Given the description of an element on the screen output the (x, y) to click on. 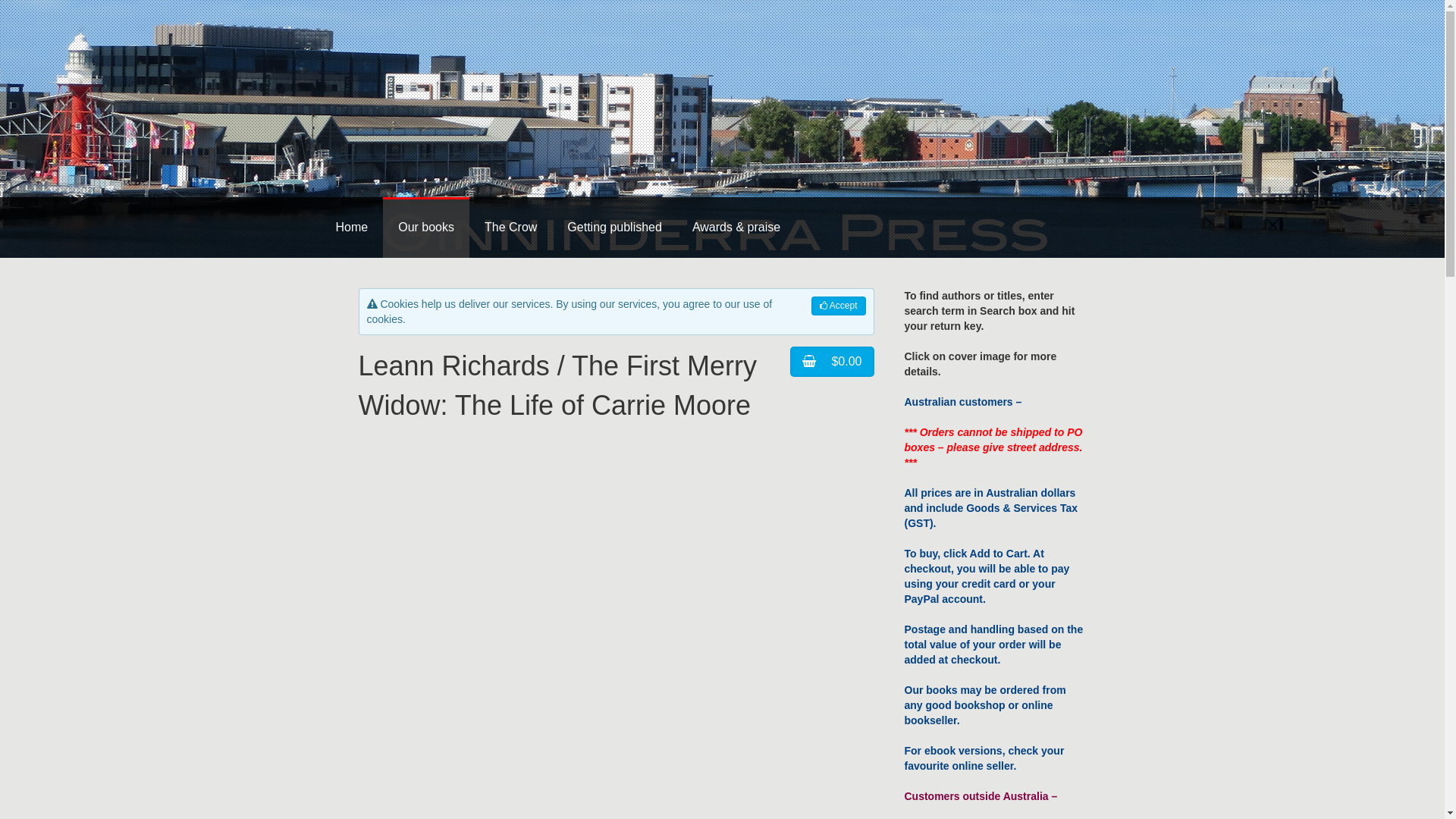
Accept Element type: text (838, 305)
$0.00 Element type: text (831, 361)
Awards & praise Element type: text (736, 227)
Our books Element type: text (425, 227)
The Crow Element type: text (510, 227)
Getting published Element type: text (614, 227)
Home Element type: text (351, 227)
